Given the description of an element on the screen output the (x, y) to click on. 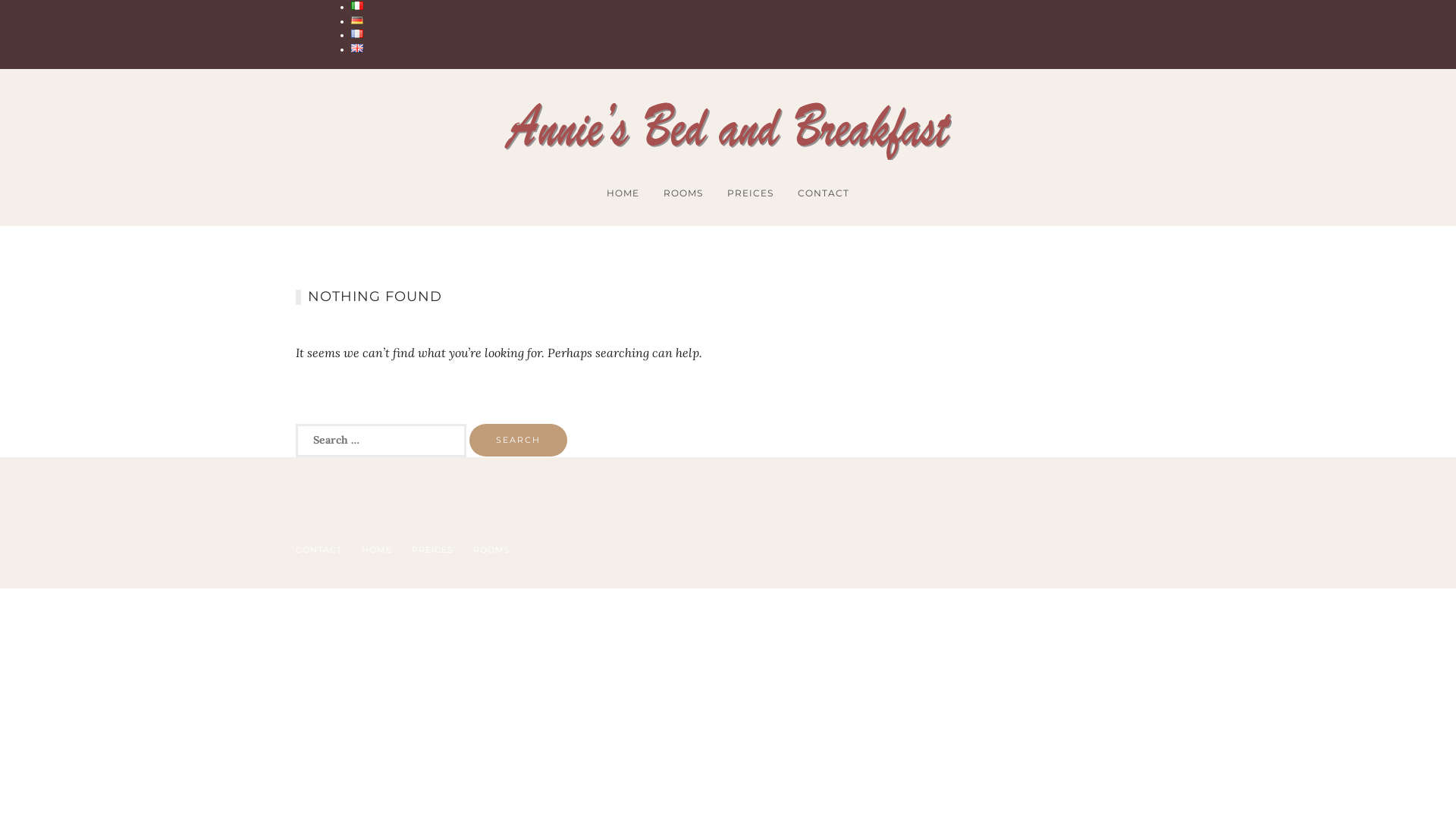
Search Element type: text (518, 439)
Italiano Element type: hover (357, 5)
PREICES Element type: text (750, 193)
PREICES Element type: text (432, 549)
English Element type: hover (357, 47)
Deutsch Element type: hover (357, 19)
HOME Element type: text (622, 193)
CONTACT Element type: text (823, 193)
ROOMS Element type: text (682, 193)
ROOMS Element type: text (491, 549)
HOME Element type: text (376, 549)
CONTACT Element type: text (318, 549)
